Given the description of an element on the screen output the (x, y) to click on. 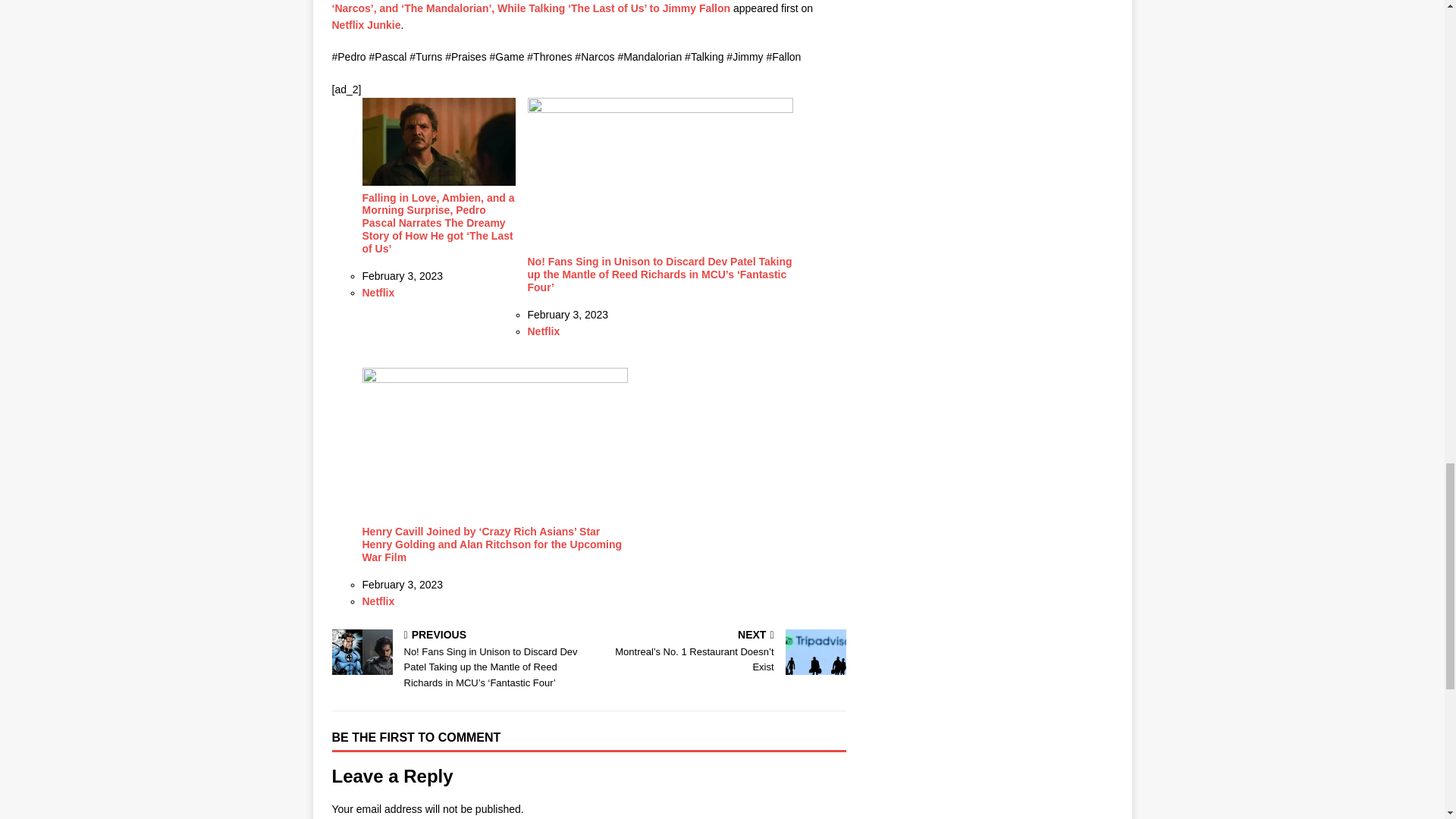
Netflix Junkie (366, 24)
Netflix (378, 292)
Netflix (378, 601)
Netflix (543, 331)
